Given the description of an element on the screen output the (x, y) to click on. 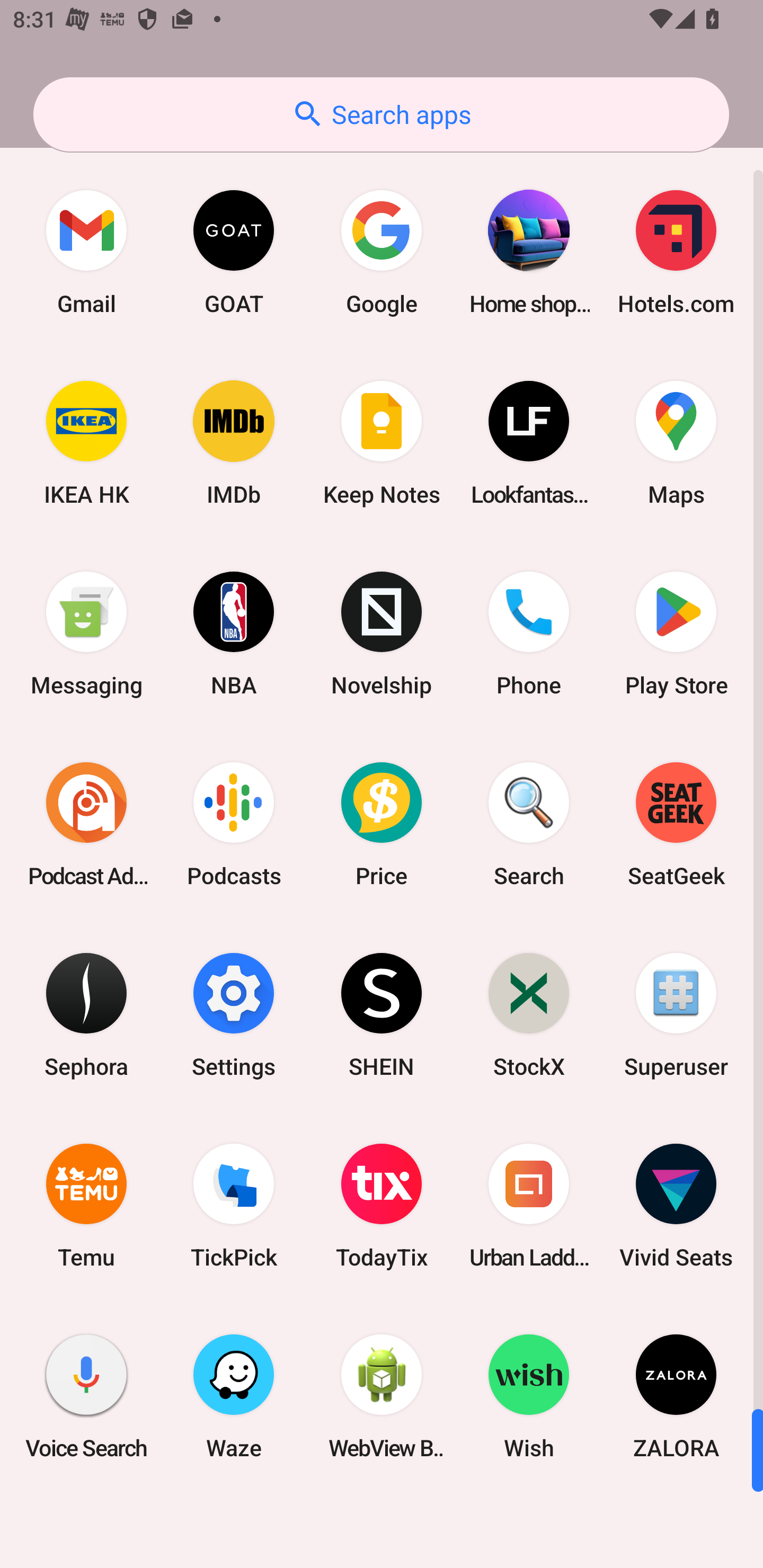
  Search apps (381, 114)
Gmail (86, 252)
GOAT (233, 252)
Google (381, 252)
Home shopping (528, 252)
Hotels.com (676, 252)
IKEA HK (86, 442)
IMDb (233, 442)
Keep Notes (381, 442)
Lookfantastic (528, 442)
Maps (676, 442)
Messaging (86, 633)
NBA (233, 633)
Novelship (381, 633)
Phone (528, 633)
Play Store (676, 633)
Podcast Addict (86, 823)
Podcasts (233, 823)
Price (381, 823)
Search (528, 823)
SeatGeek (676, 823)
Sephora (86, 1014)
Settings (233, 1014)
SHEIN (381, 1014)
StockX (528, 1014)
Superuser (676, 1014)
Temu (86, 1205)
TickPick (233, 1205)
TodayTix (381, 1205)
Urban Ladder (528, 1205)
Vivid Seats (676, 1205)
Voice Search (86, 1396)
Waze (233, 1396)
WebView Browser Tester (381, 1396)
Wish (528, 1396)
ZALORA (676, 1396)
